Given the description of an element on the screen output the (x, y) to click on. 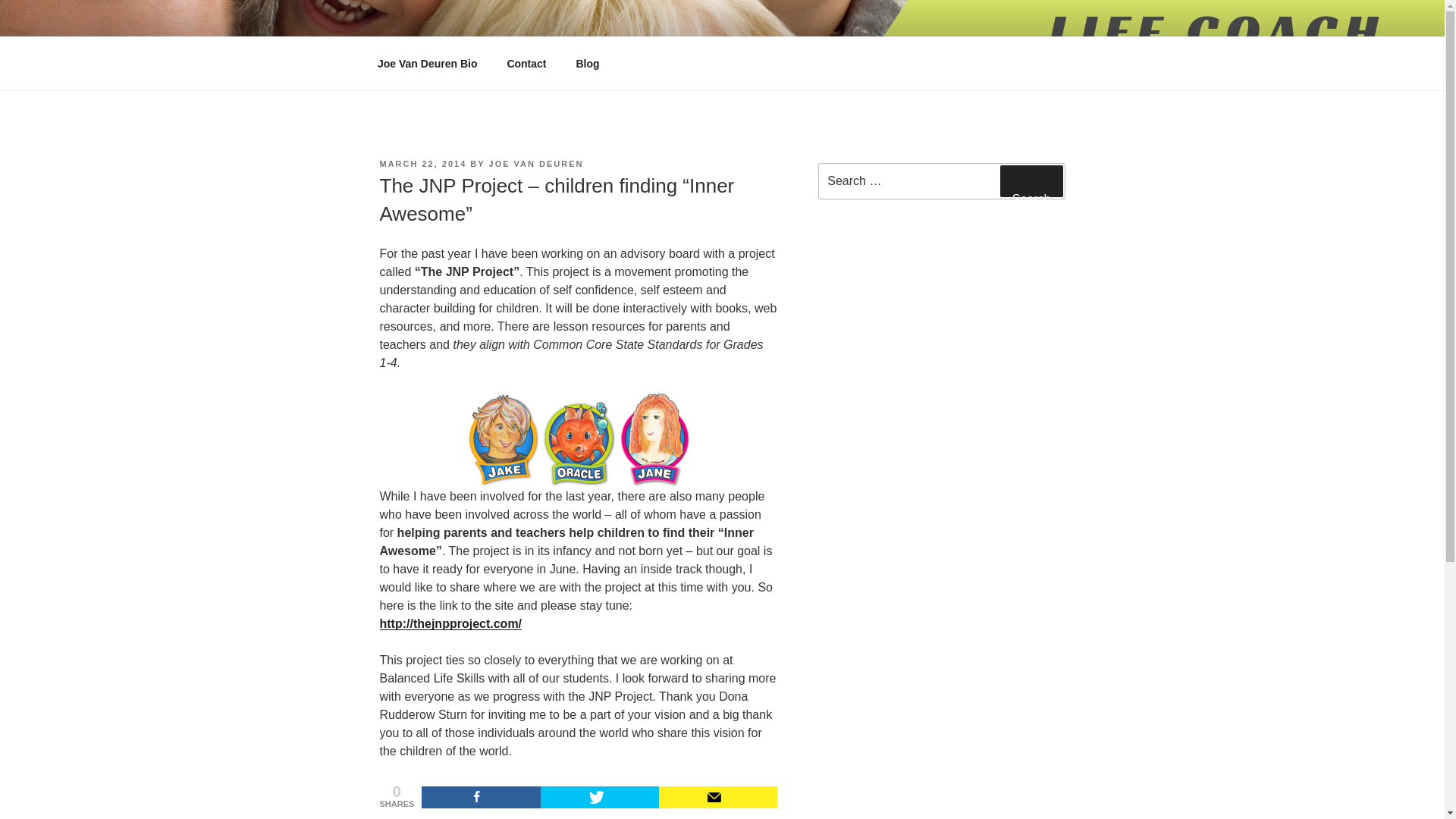
Tweet (599, 797)
Blog (587, 63)
Subscribe (718, 797)
Search (1031, 181)
Contact (526, 63)
Share (481, 797)
MARCH 22, 2014 (421, 163)
JOE VAN DEUREN (536, 163)
Joe Van Deuren Bio (426, 63)
